Given the description of an element on the screen output the (x, y) to click on. 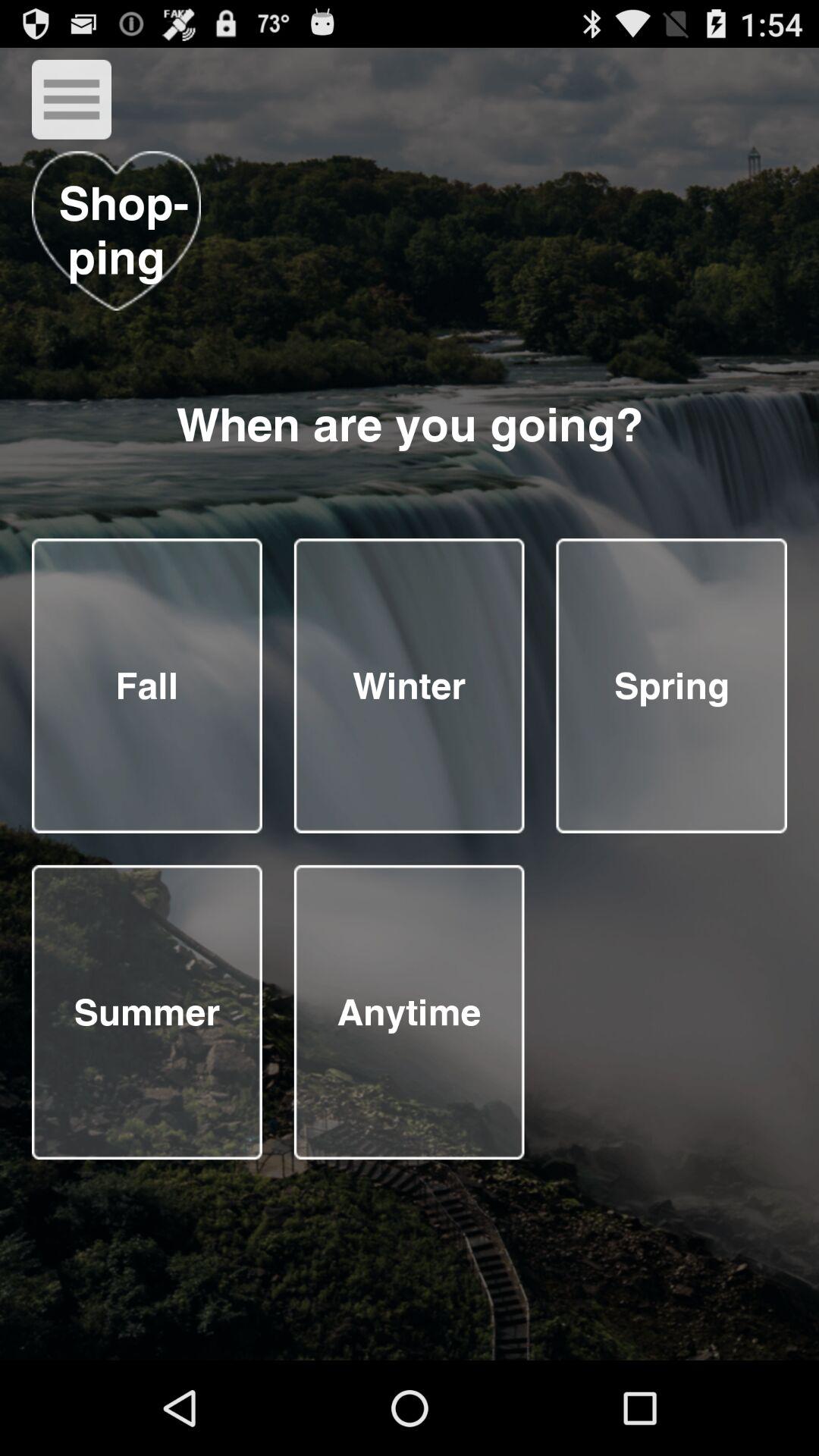
select answer (146, 1012)
